Given the description of an element on the screen output the (x, y) to click on. 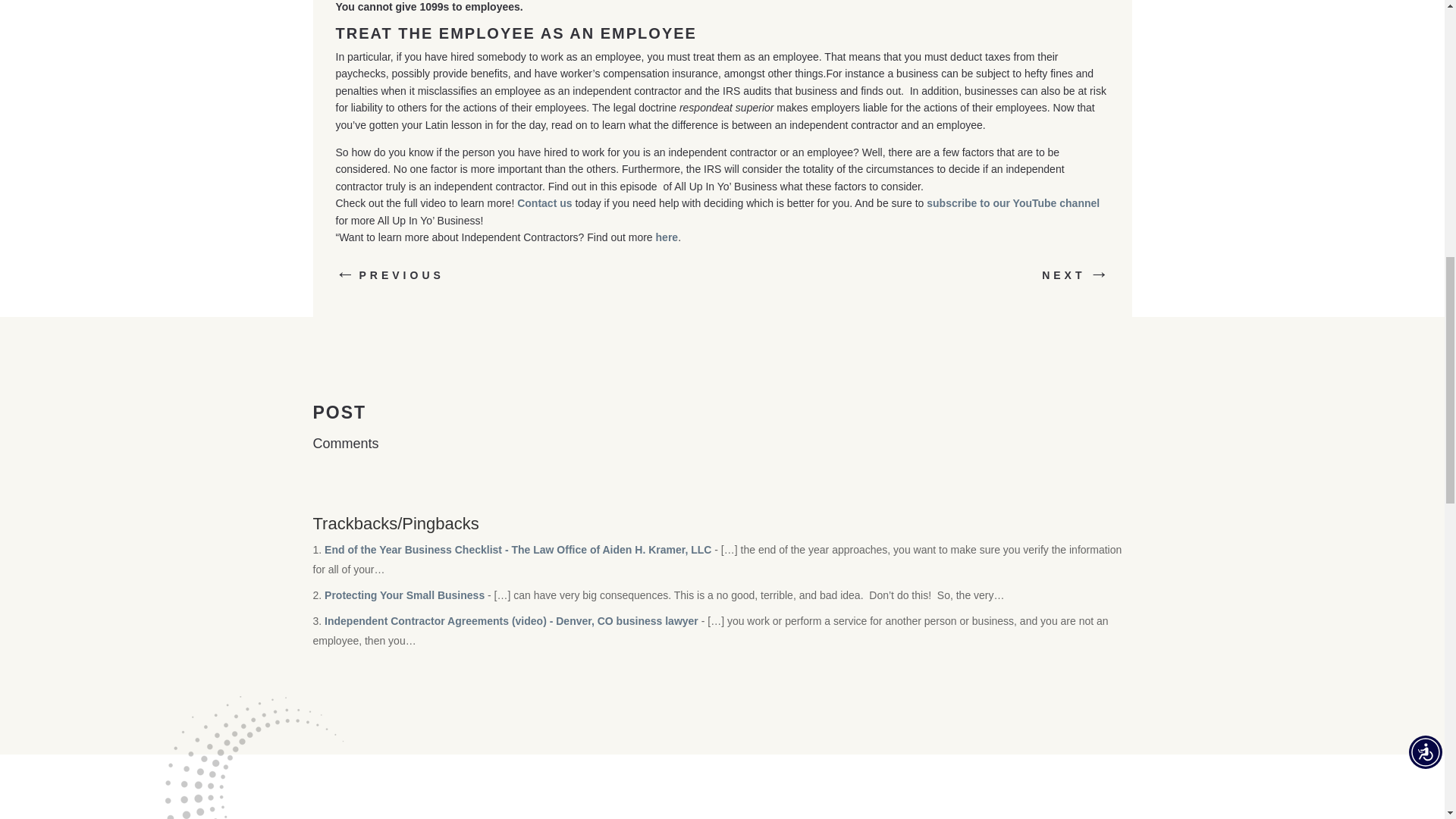
flowers4 (279, 757)
Protecting Your Small Business (404, 594)
subscribe to our YouTube channel (1012, 203)
here (667, 236)
Contact us (545, 203)
